Given the description of an element on the screen output the (x, y) to click on. 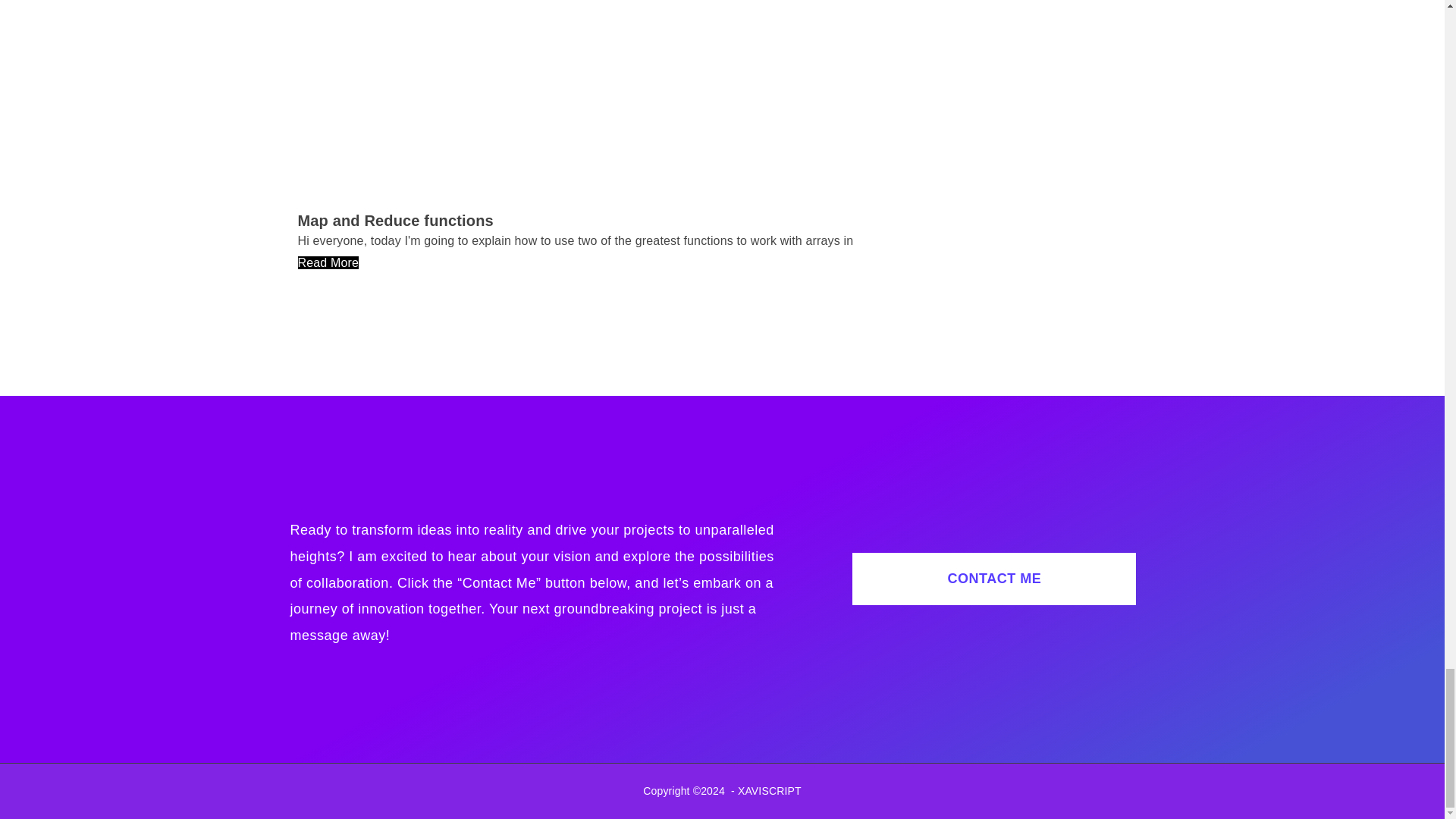
CONTACT ME (993, 578)
Map and Reduce functions (395, 220)
Read More (327, 262)
